Given the description of an element on the screen output the (x, y) to click on. 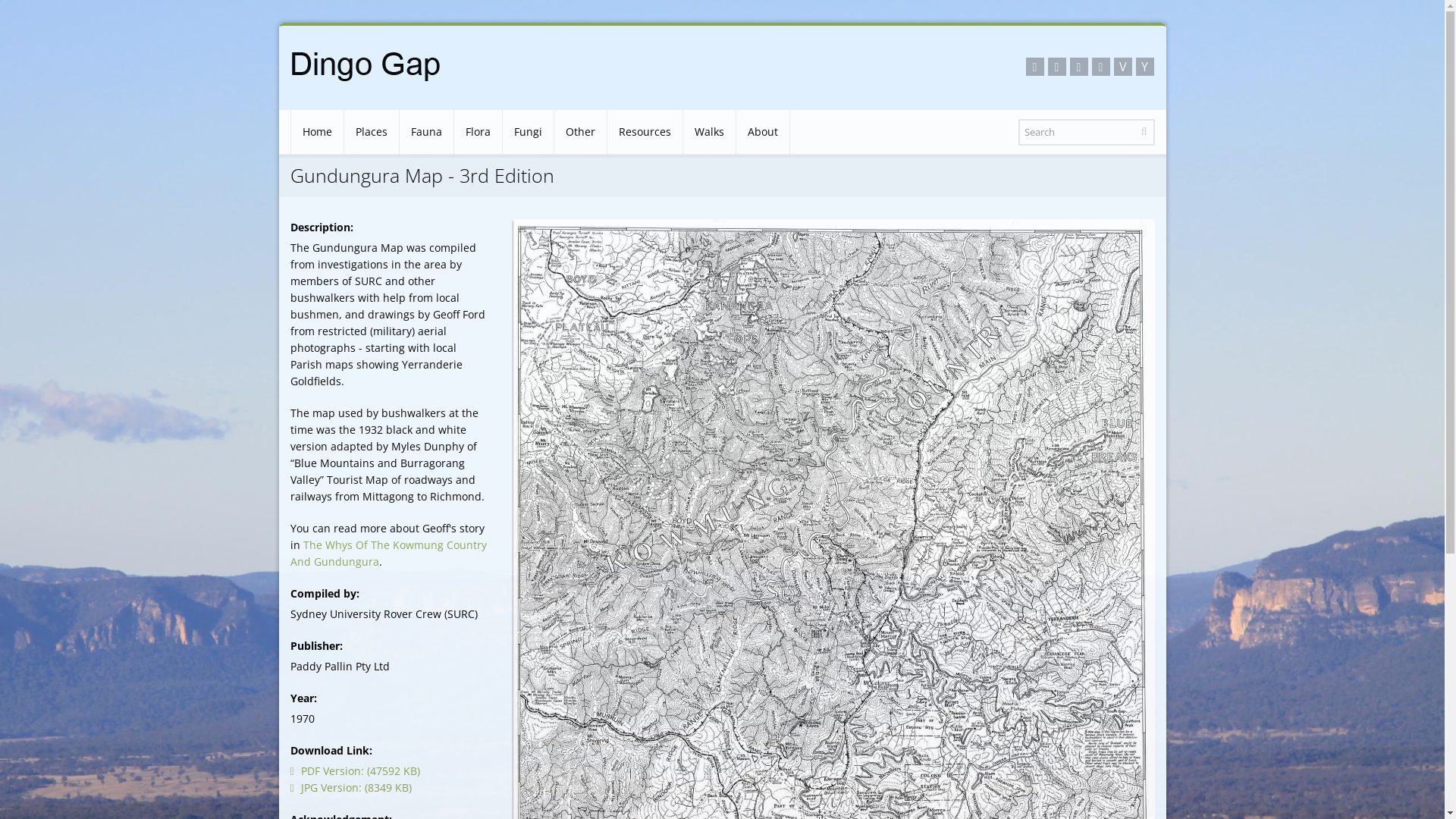
Flora Element type: text (477, 131)
About Element type: text (761, 131)
Facebook Element type: hover (1057, 66)
Resources Element type: text (643, 131)
Instagram Element type: hover (1078, 66)
Pinterest Element type: hover (1101, 66)
Walks Element type: text (708, 131)
V Element type: text (1122, 66)
Home Element type: text (317, 131)
Fungi Element type: text (527, 131)
The Whys Of The Kowmung Country And Gundungura Element type: text (387, 552)
RSS Element type: hover (1034, 66)
PDF Version: (47592 KB) Element type: text (354, 770)
JPG Version: (8349 KB) Element type: text (350, 787)
Fauna Element type: text (425, 131)
Places Element type: text (371, 131)
Y Element type: text (1144, 66)
Other Element type: text (579, 131)
